Given the description of an element on the screen output the (x, y) to click on. 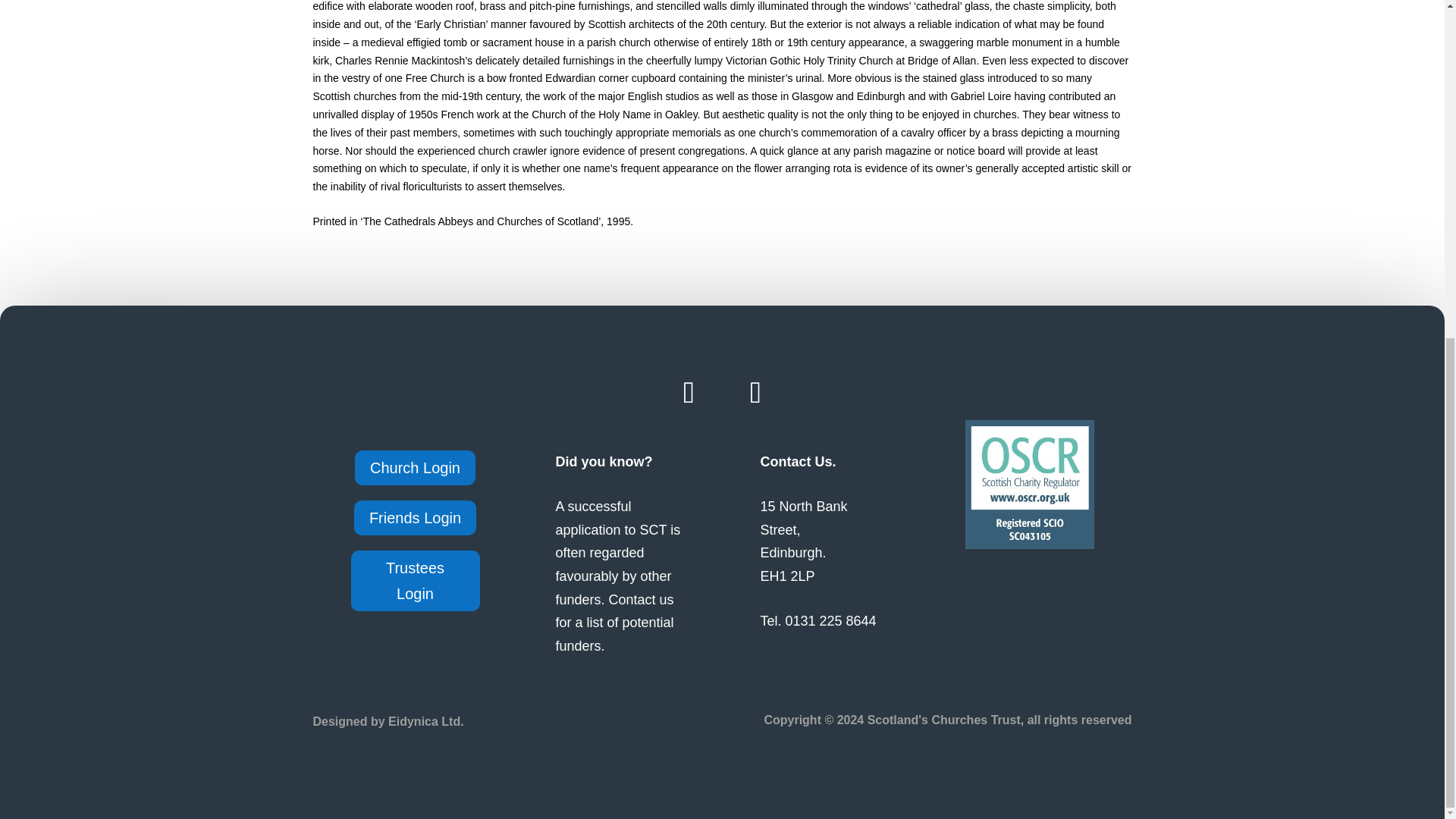
Follow on Facebook (688, 392)
Follow on Twitter (755, 392)
small-blue (1028, 484)
